Given the description of an element on the screen output the (x, y) to click on. 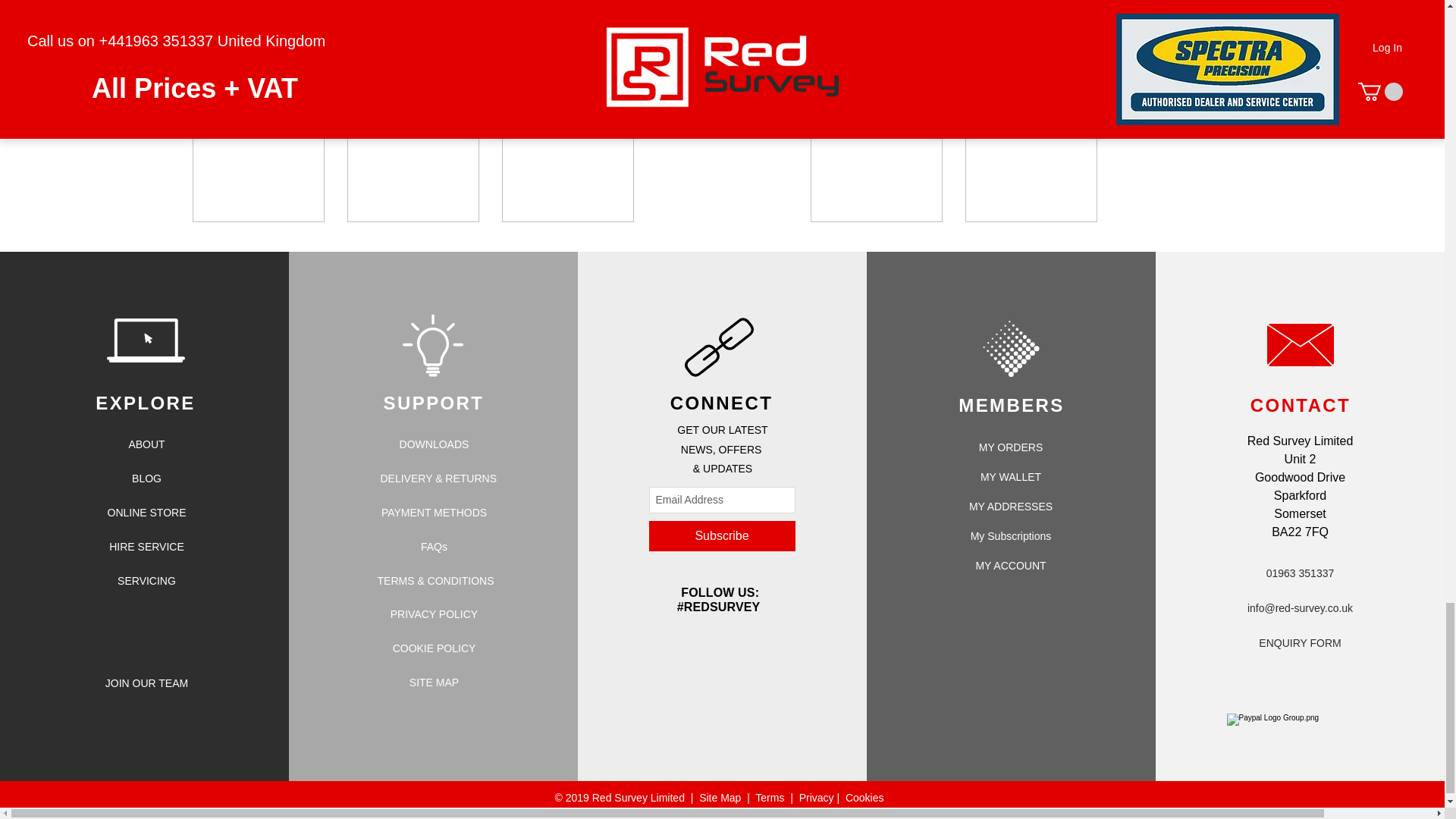
Send (988, 41)
